Given the description of an element on the screen output the (x, y) to click on. 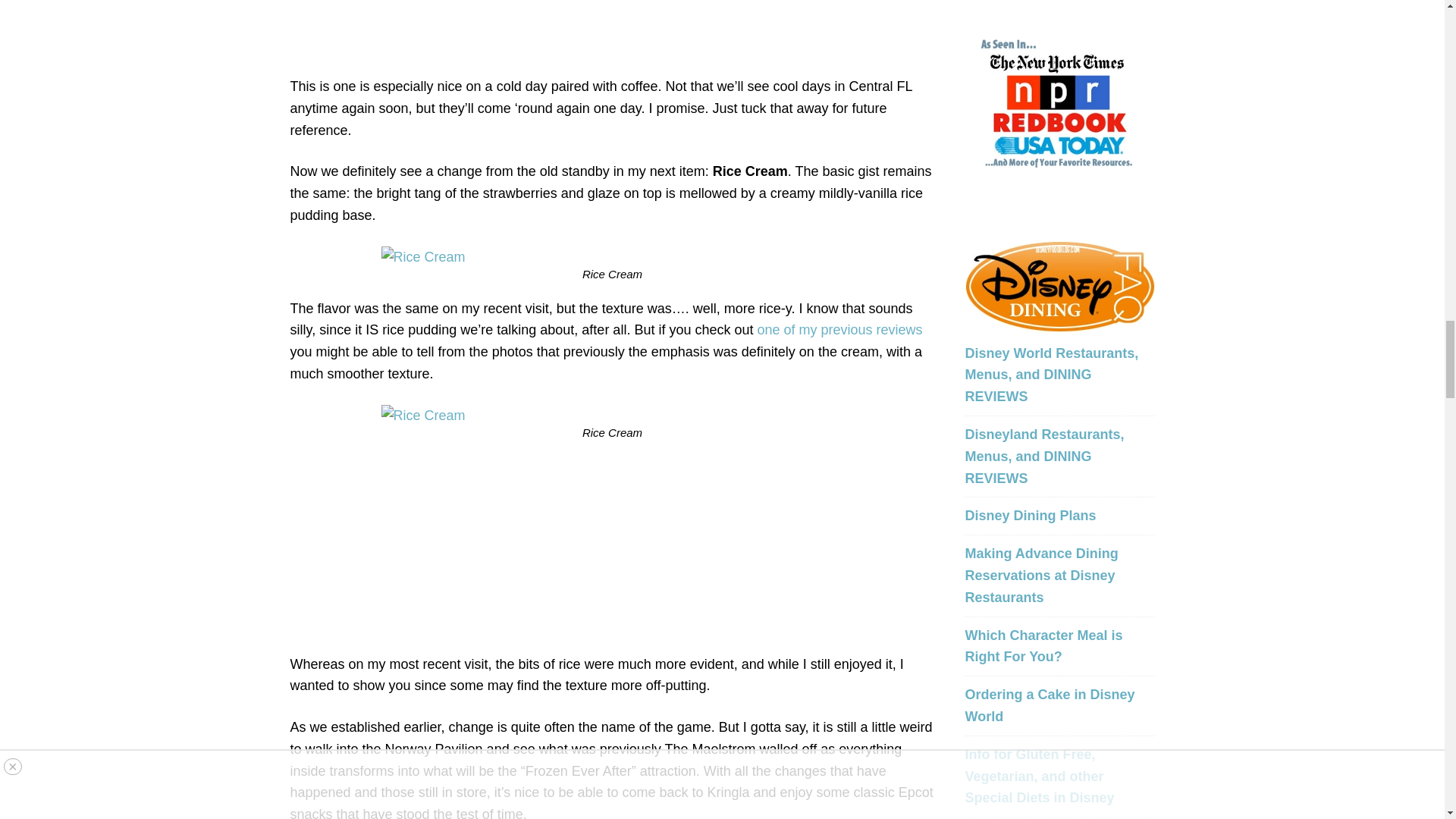
asseeninsmall (1059, 101)
